Given the description of an element on the screen output the (x, y) to click on. 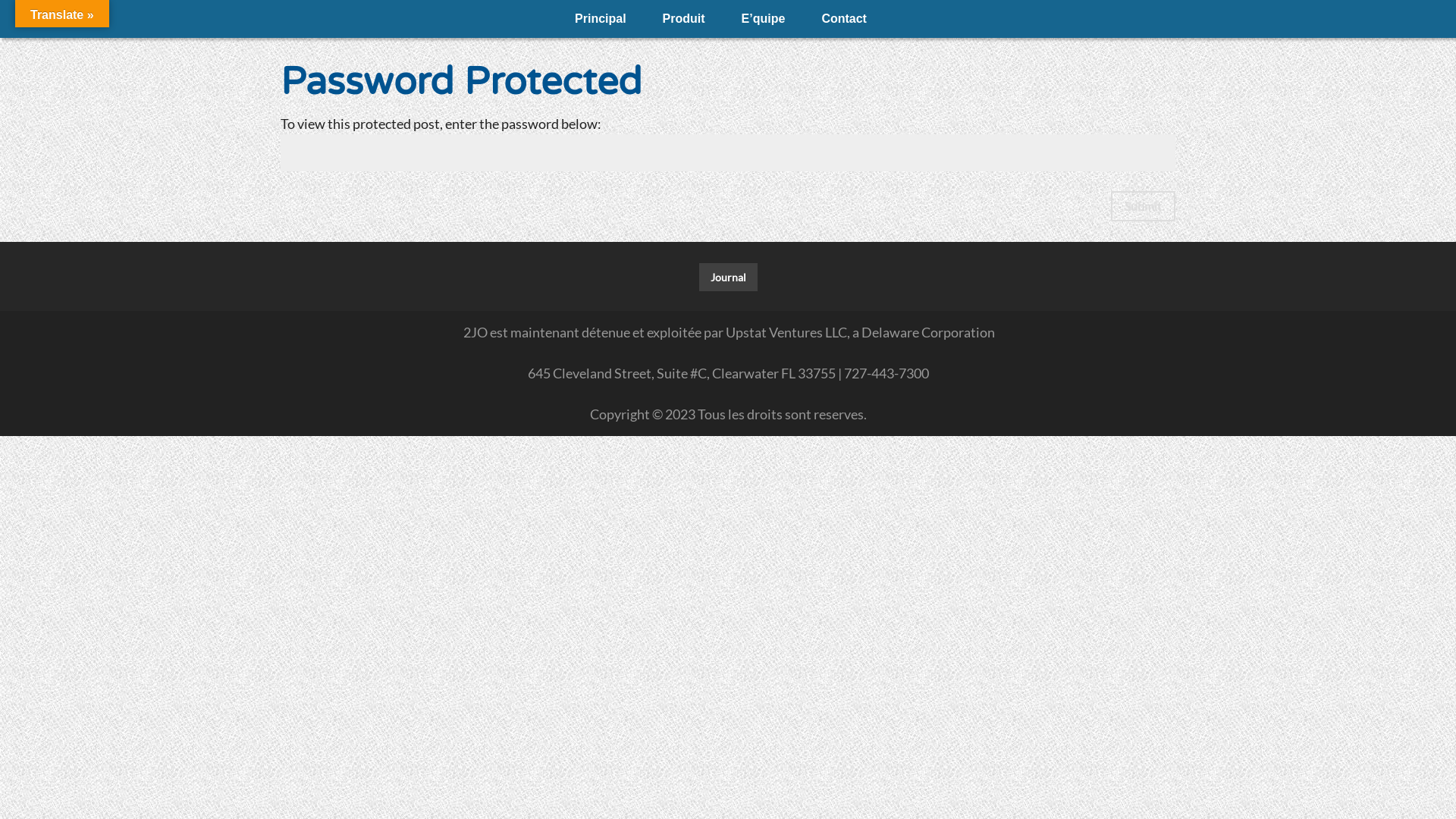
Produit Element type: text (683, 18)
Journal Element type: text (728, 277)
Submit Element type: text (1142, 206)
Principal Element type: text (600, 18)
Contact Element type: text (843, 18)
